Given the description of an element on the screen output the (x, y) to click on. 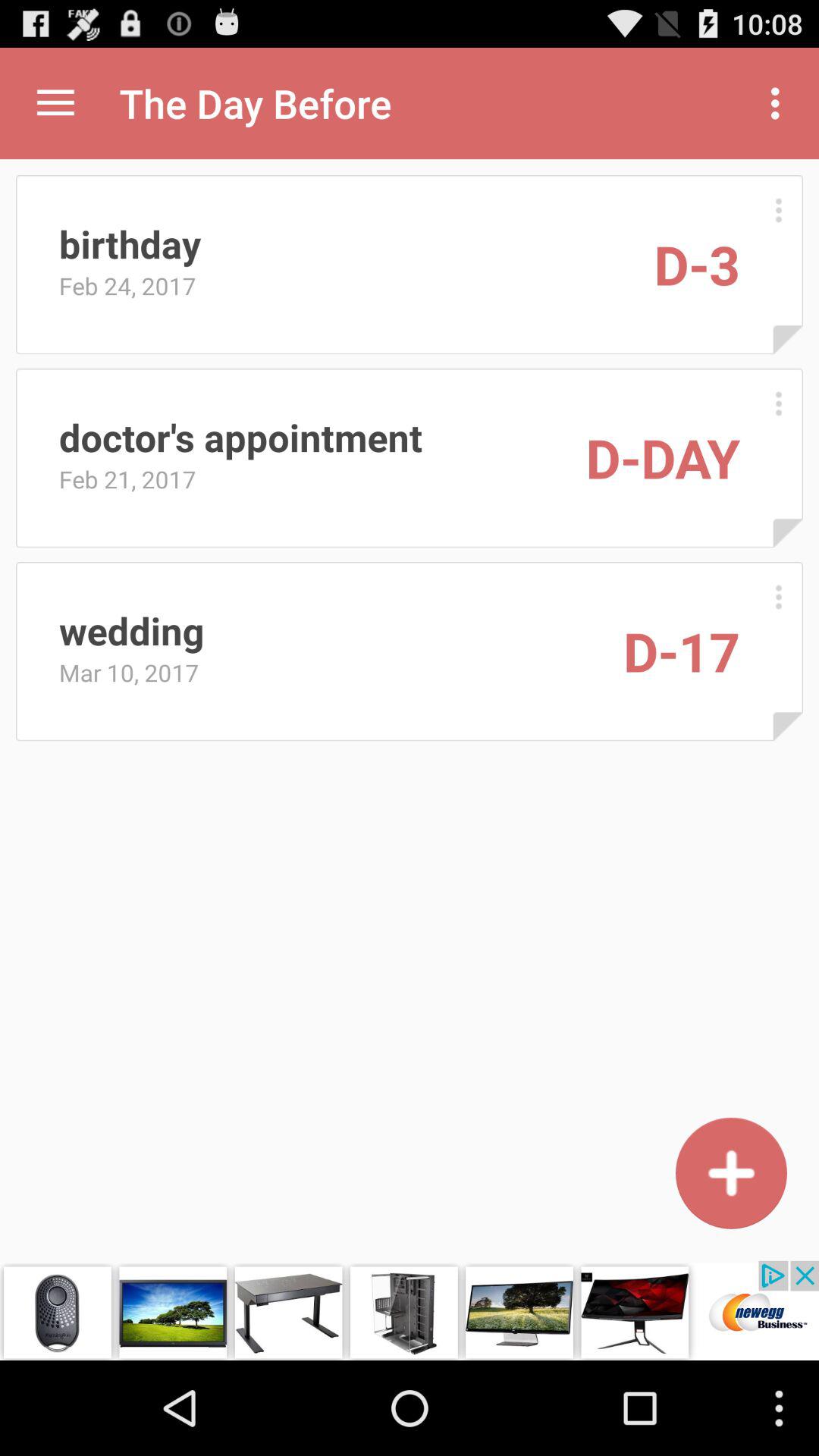
expand information (777, 209)
